Given the description of an element on the screen output the (x, y) to click on. 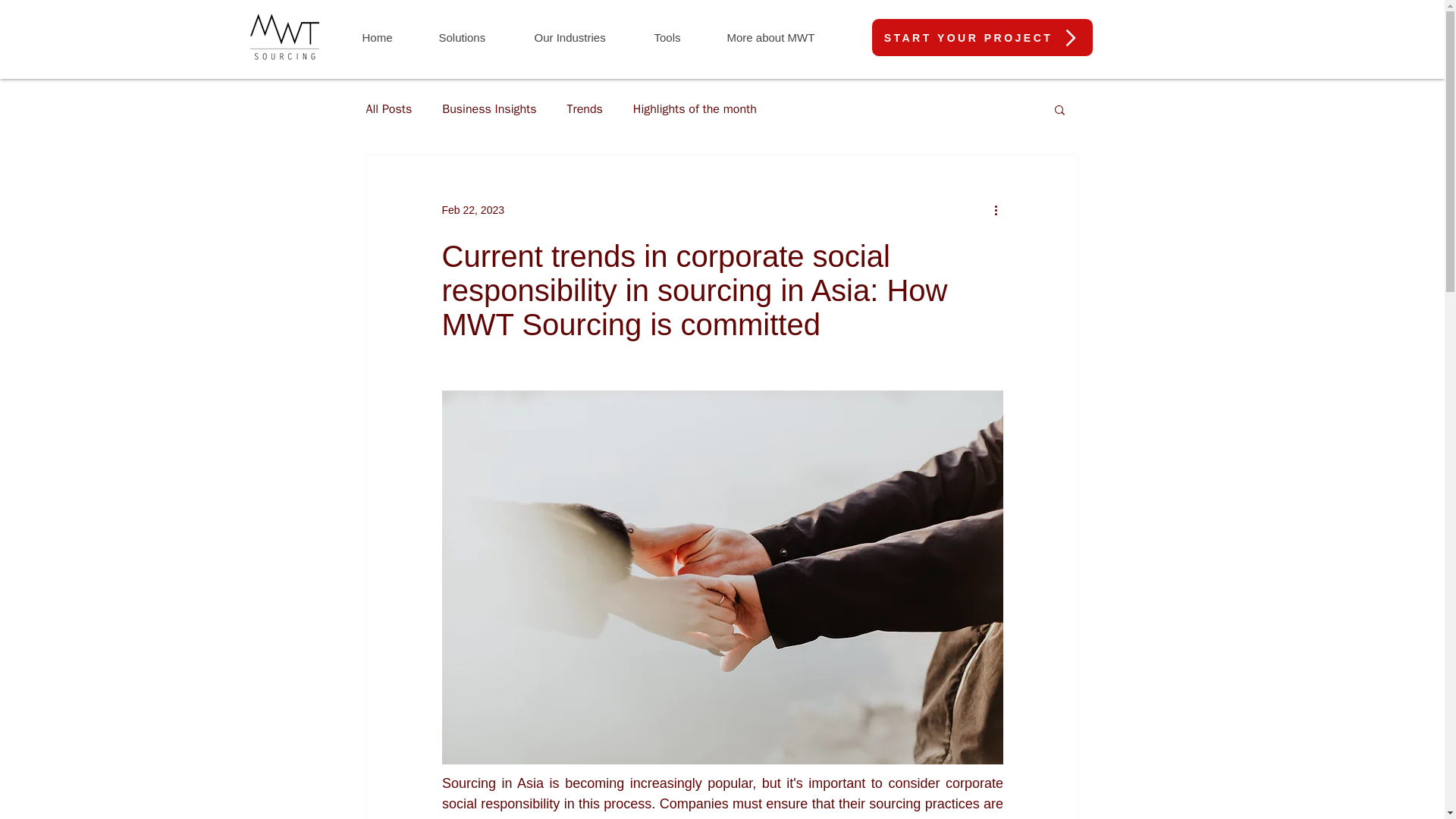
Home (388, 37)
Highlights of the month (695, 109)
Trends (584, 109)
Business Insights (488, 109)
All Posts (388, 109)
START YOUR PROJECT (981, 37)
Feb 22, 2023 (472, 209)
